Given the description of an element on the screen output the (x, y) to click on. 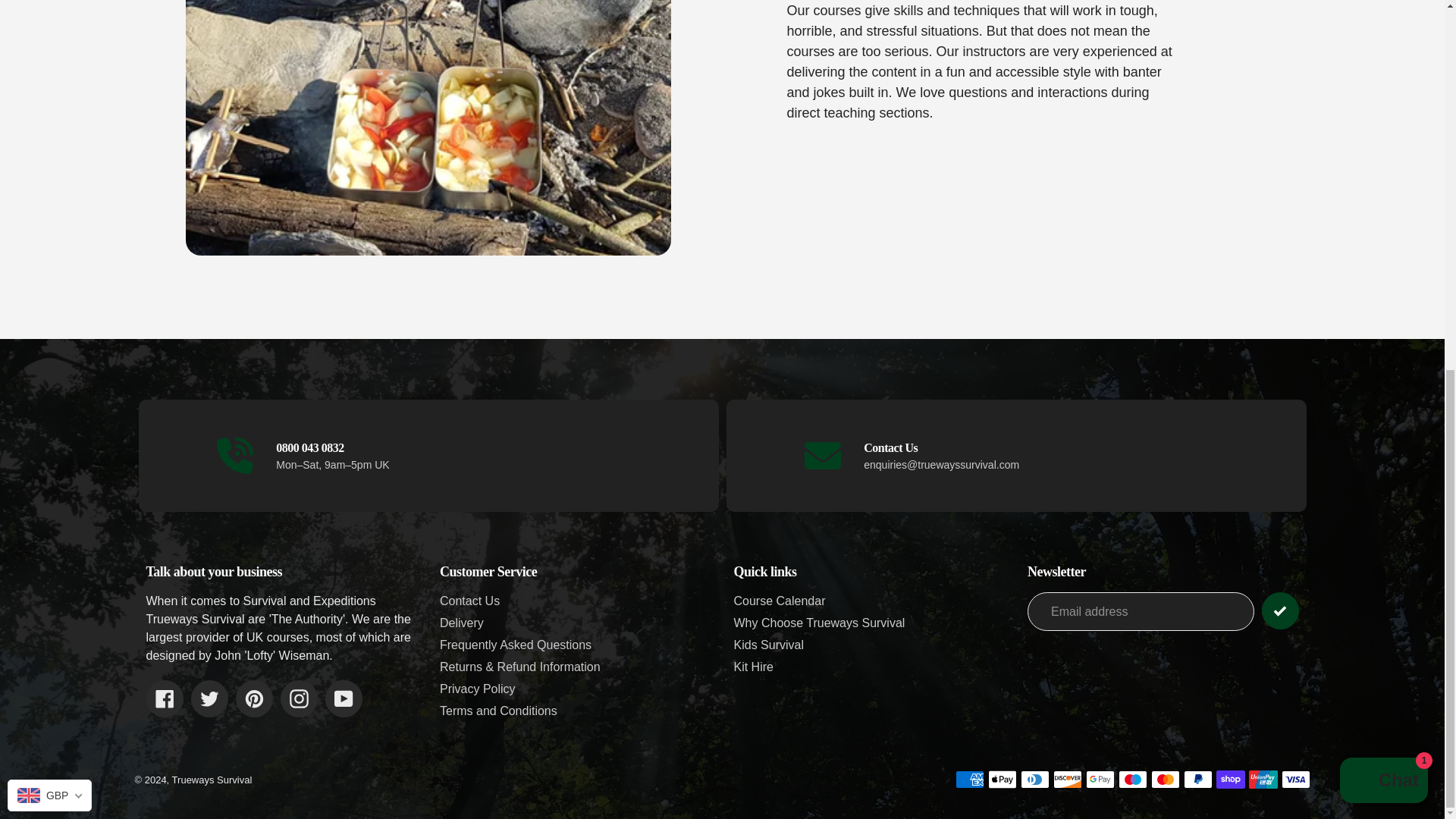
Shopify online store chat (1383, 110)
